Given the description of an element on the screen output the (x, y) to click on. 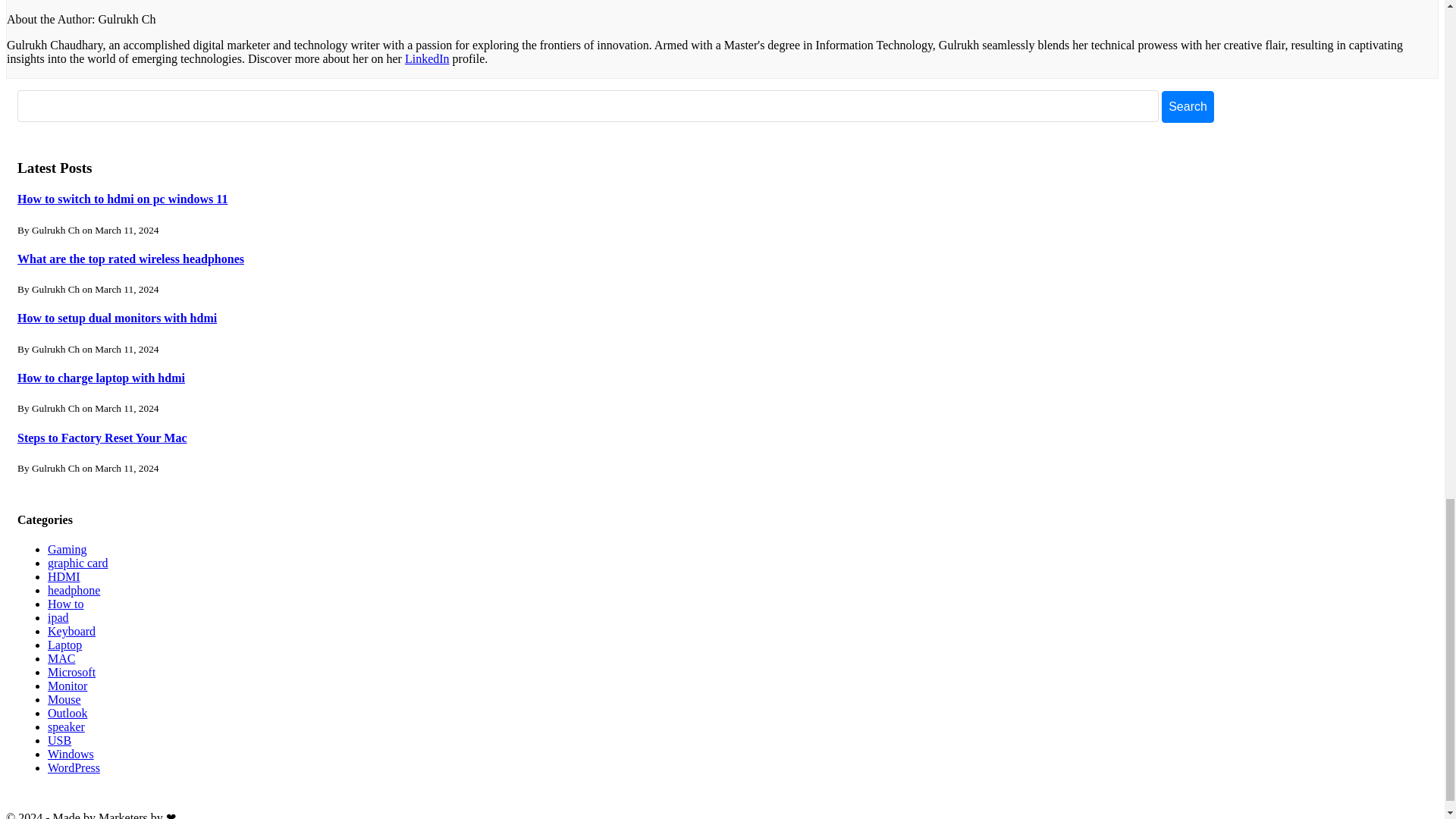
Gaming (67, 549)
Microsoft (72, 671)
How to setup dual monitors with hdmi (116, 318)
Monitor (67, 685)
Steps to Factory Reset Your Mac (102, 437)
headphone (74, 590)
Mouse (64, 698)
How to switch to hdmi on pc windows 11 (122, 198)
What are the top rated wireless headphones (130, 258)
ipad (58, 617)
